Given the description of an element on the screen output the (x, y) to click on. 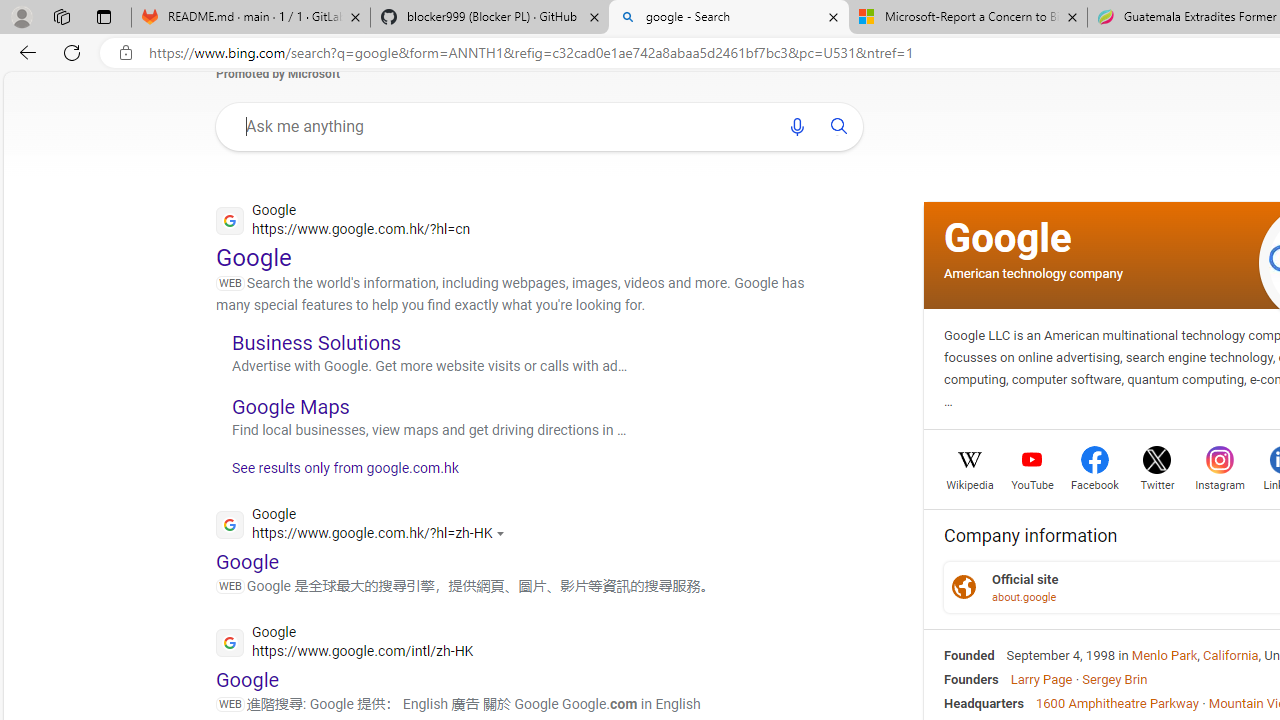
Founded (969, 655)
Ask me anything (502, 126)
YouTube (1032, 483)
Workspaces (61, 16)
Class: sp-ofsite (963, 587)
1600 Amphitheatre Parkway (1117, 702)
Tab actions menu (104, 16)
Wikipedia (969, 483)
Global web icon (229, 642)
View site information (125, 53)
Business Solutions (316, 341)
American technology company (1033, 272)
